Given the description of an element on the screen output the (x, y) to click on. 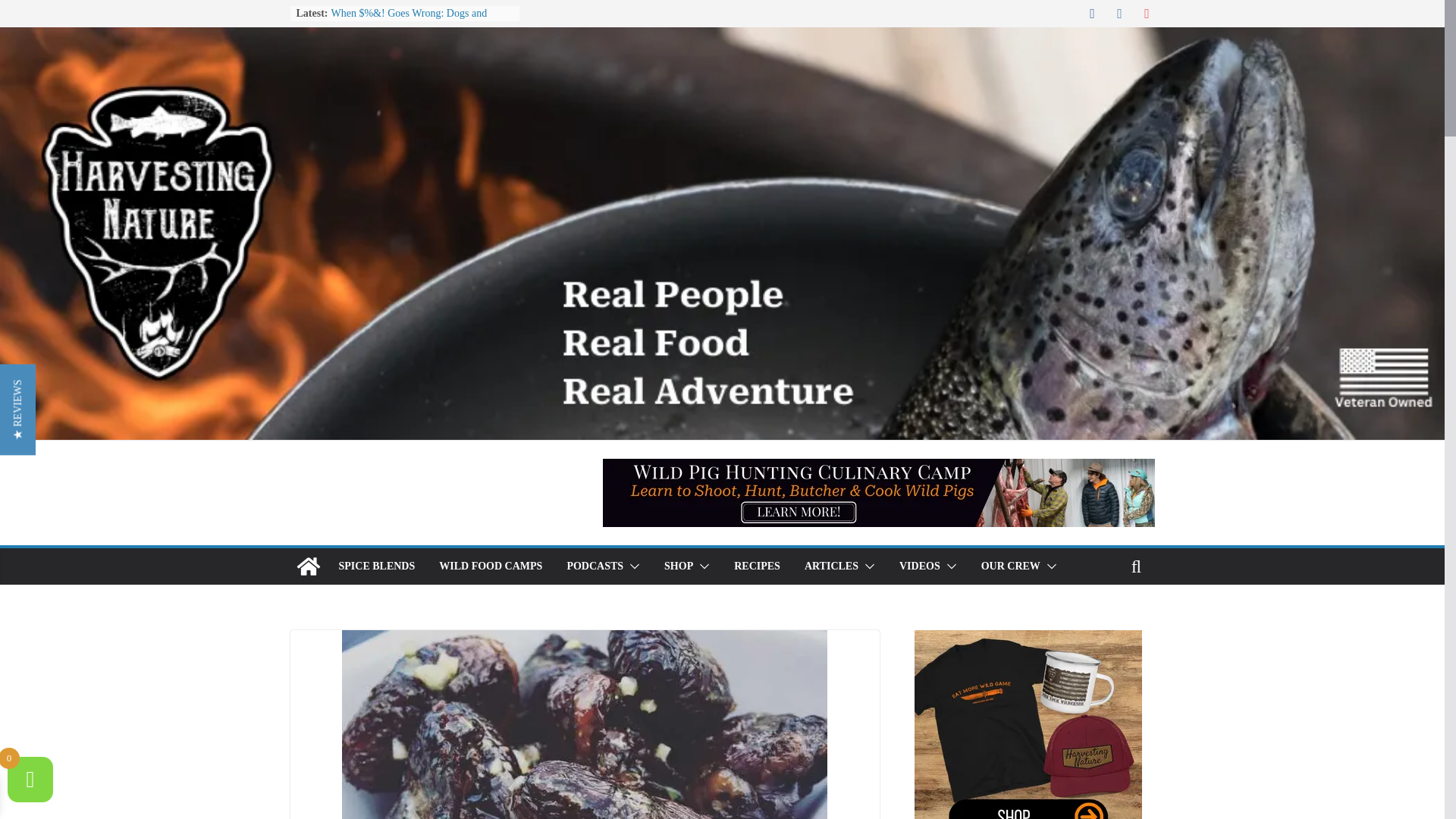
VIDEOS (919, 566)
RECIPES (756, 566)
Harvesting Nature (307, 565)
WILD FOOD CAMPS (490, 566)
SHOP (678, 566)
ARTICLES (832, 566)
OUR CREW (1011, 566)
SPICE BLENDS (375, 566)
PODCASTS (594, 566)
